Given the description of an element on the screen output the (x, y) to click on. 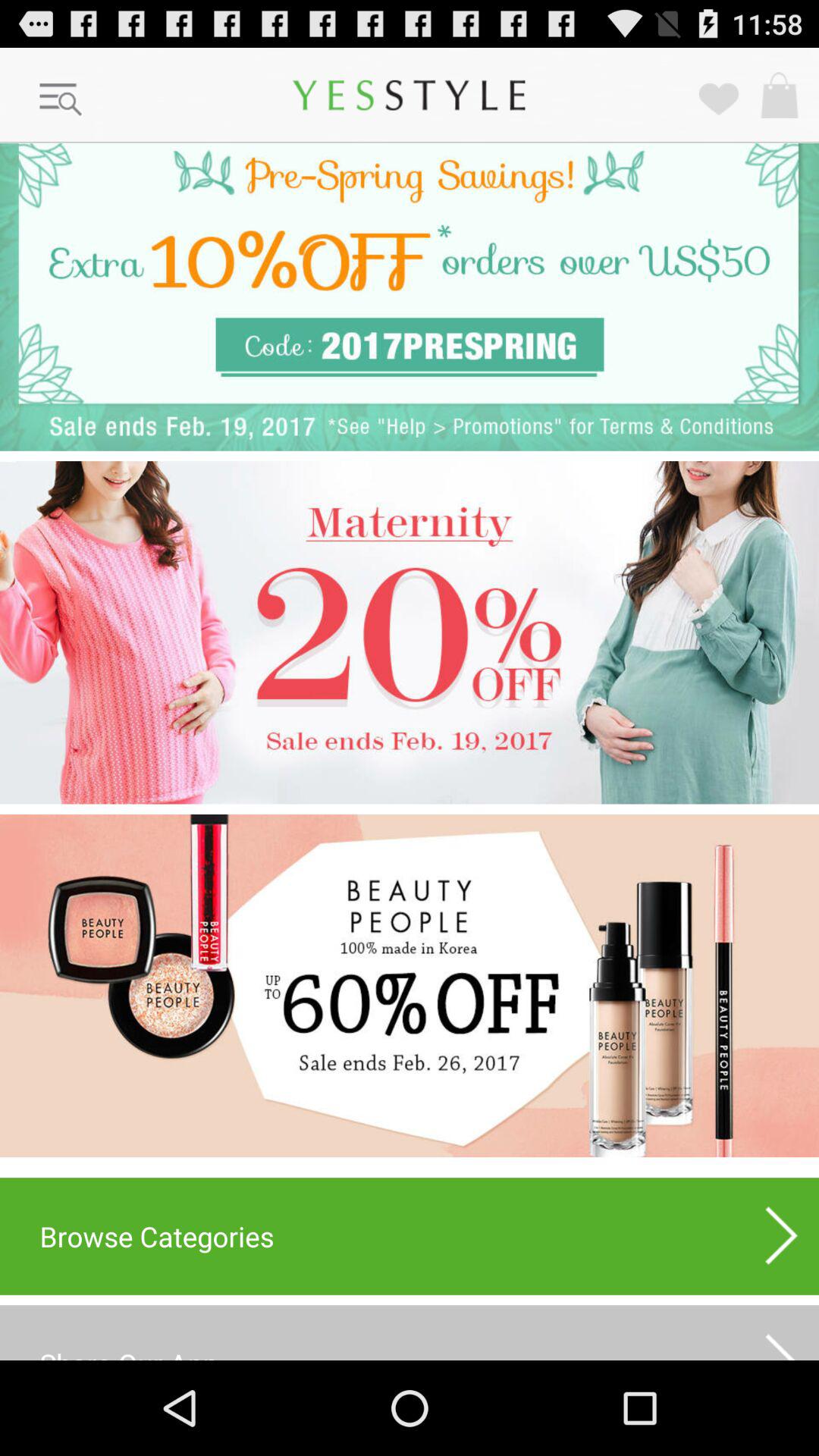
press share our app (409, 1332)
